Given the description of an element on the screen output the (x, y) to click on. 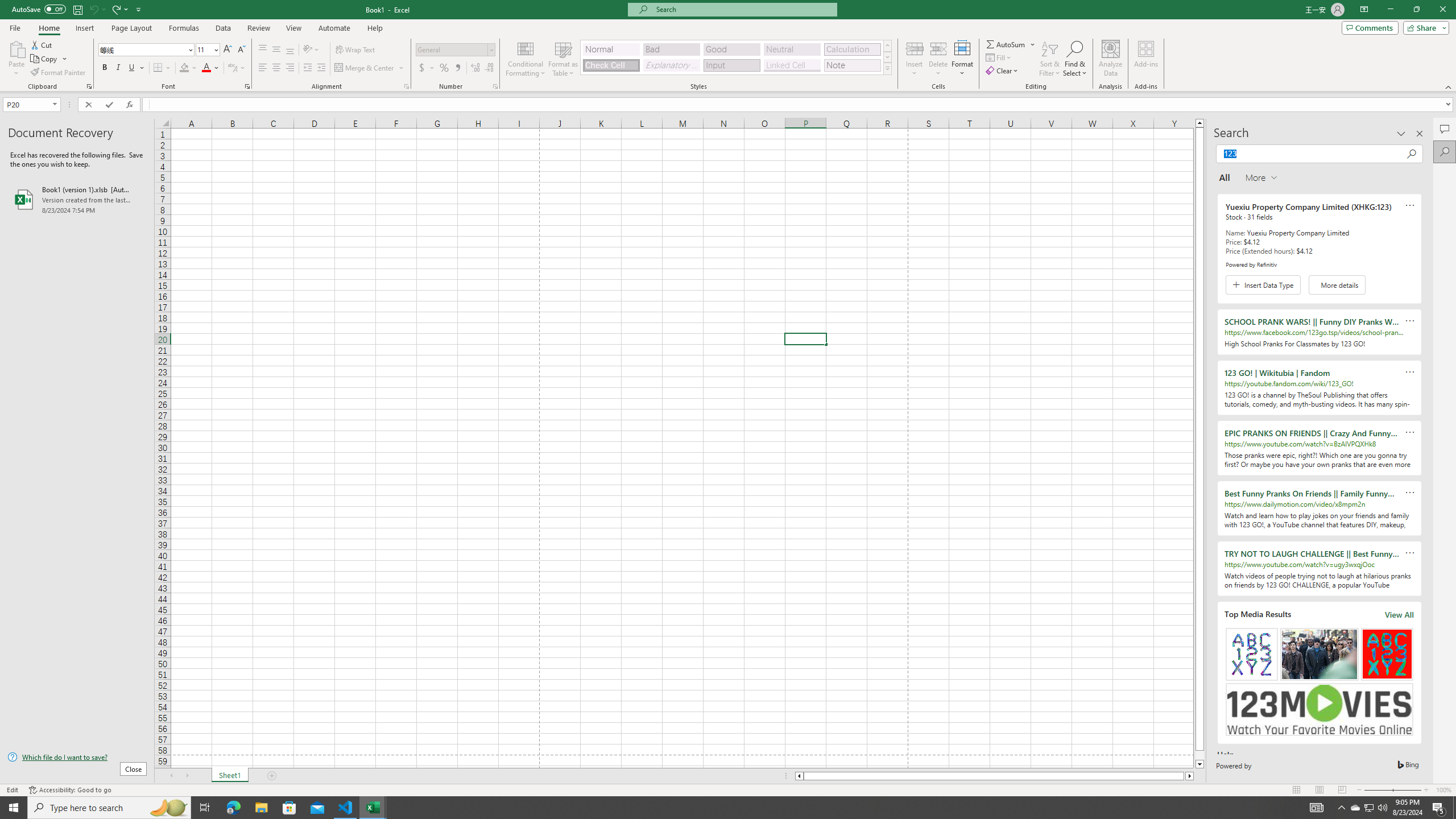
Delete Cells... (938, 48)
System (6, 6)
Data (223, 28)
Align Right (290, 67)
Redo (115, 9)
Home (48, 28)
Comments (1444, 128)
Insert Cells (914, 48)
Comments (1369, 27)
Class: NetUIScrollBar (994, 775)
Good (731, 49)
Format as Table (563, 58)
Microsoft search (742, 9)
Book1 (version 1).xlsb  [AutoRecovered] (77, 199)
